Given the description of an element on the screen output the (x, y) to click on. 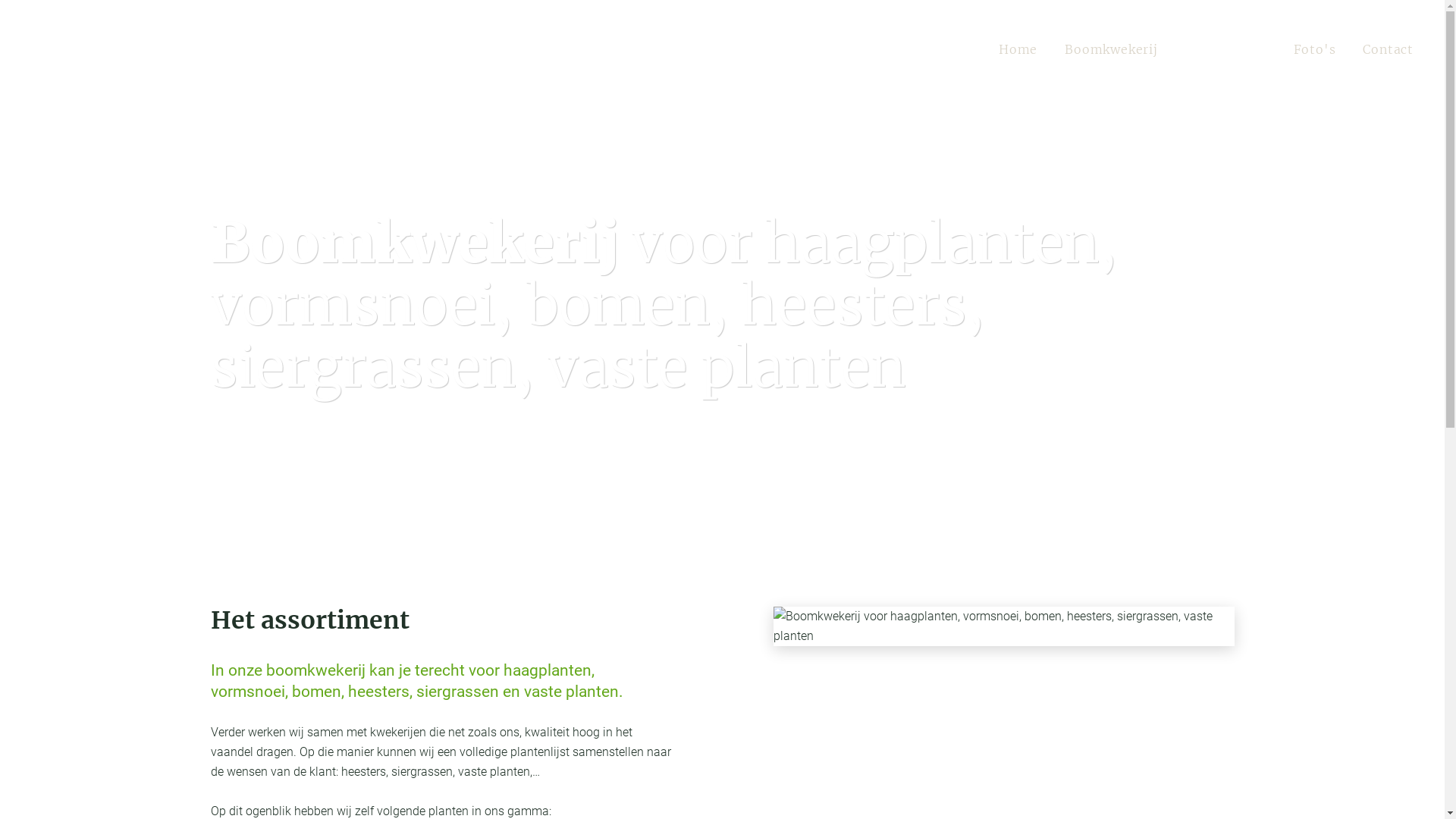
Assortiment Element type: text (1225, 49)
Contact Element type: text (1387, 49)
Home Element type: text (1017, 49)
Foto's Element type: text (1314, 49)
Boomkwekerij Element type: text (1111, 49)
